Given the description of an element on the screen output the (x, y) to click on. 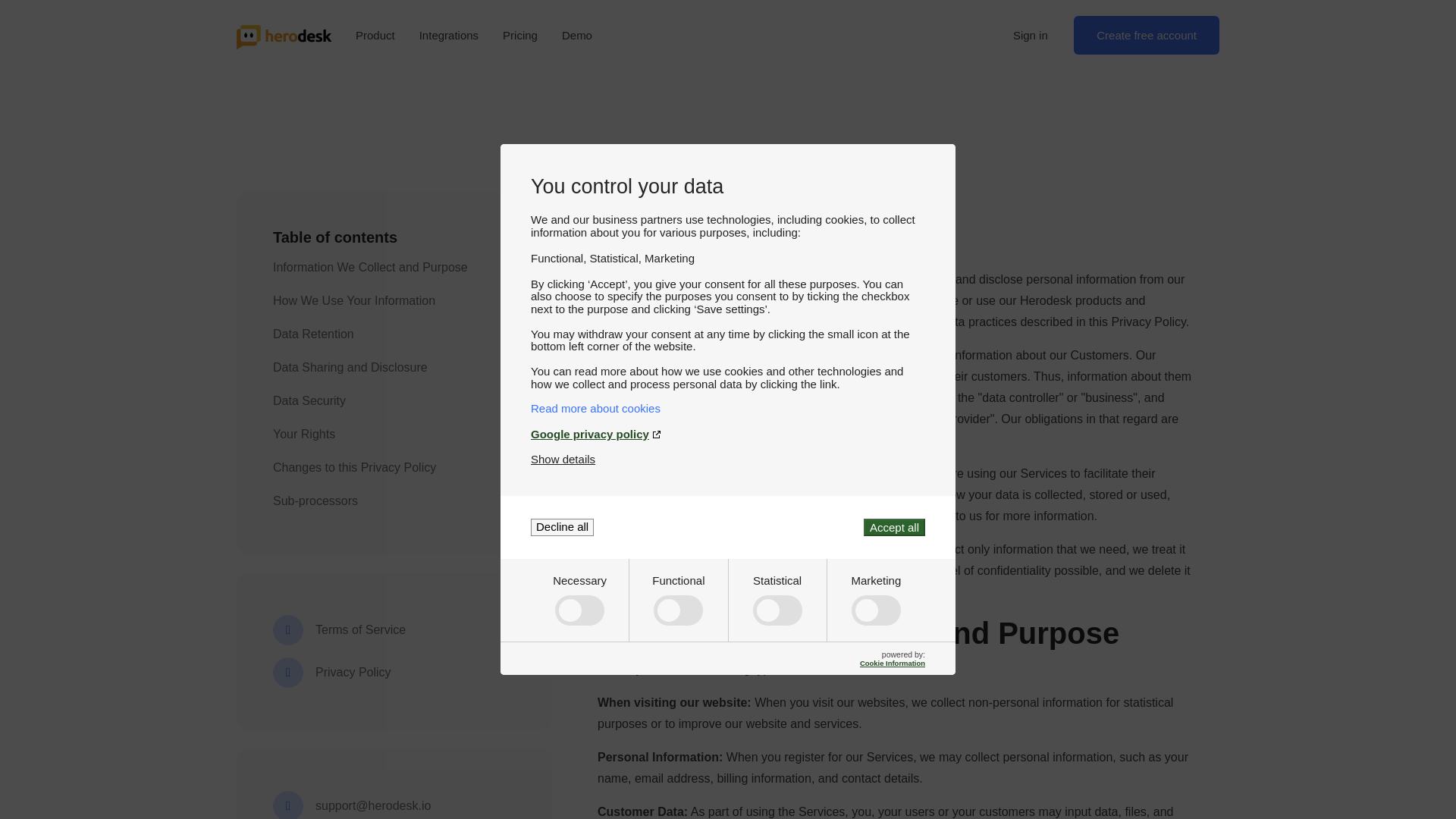
Read more about cookies (727, 408)
Decline all (562, 527)
Show details (563, 459)
Google privacy policy (727, 433)
